Given the description of an element on the screen output the (x, y) to click on. 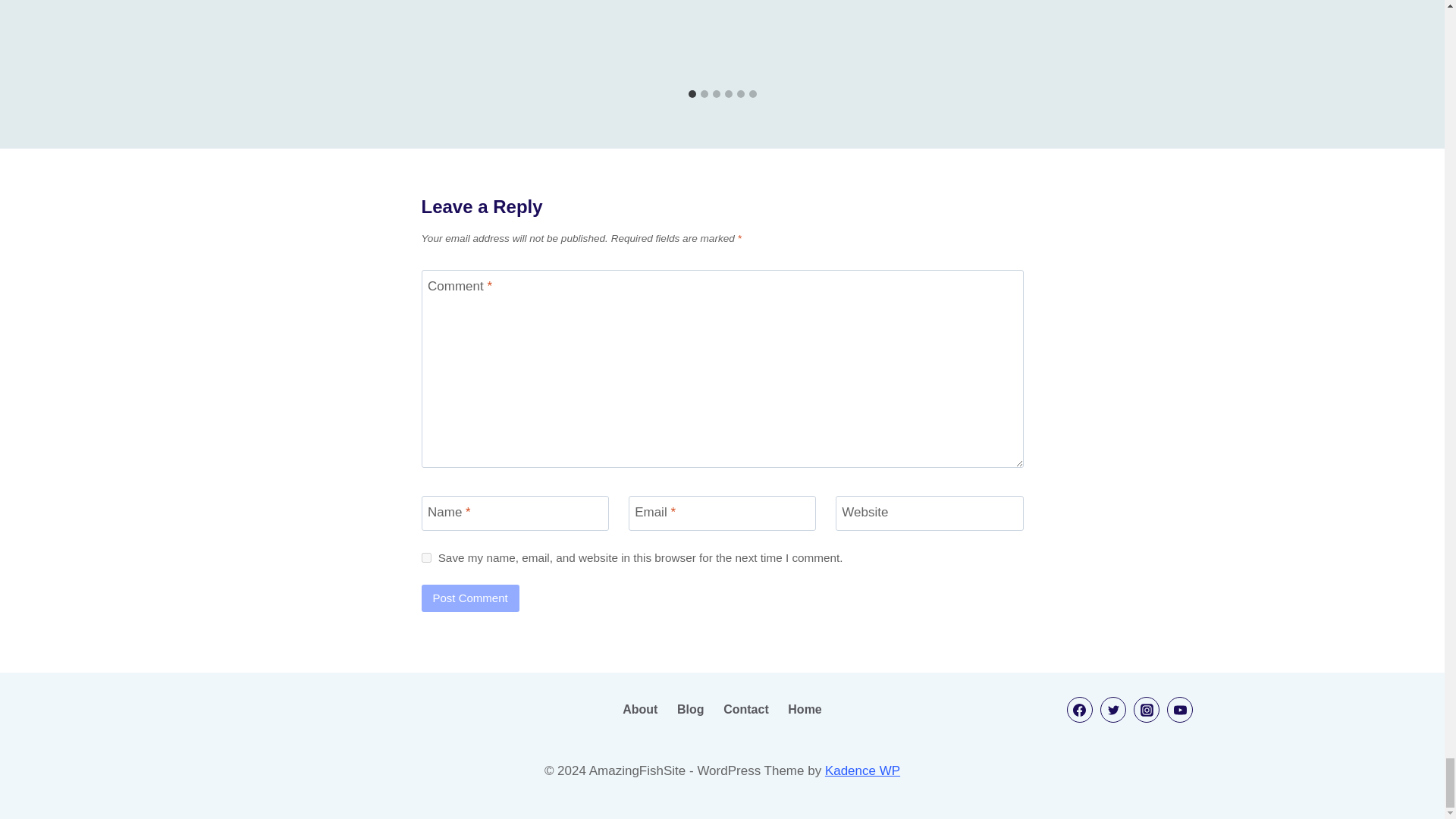
yes (426, 557)
Post Comment (470, 597)
